Given the description of an element on the screen output the (x, y) to click on. 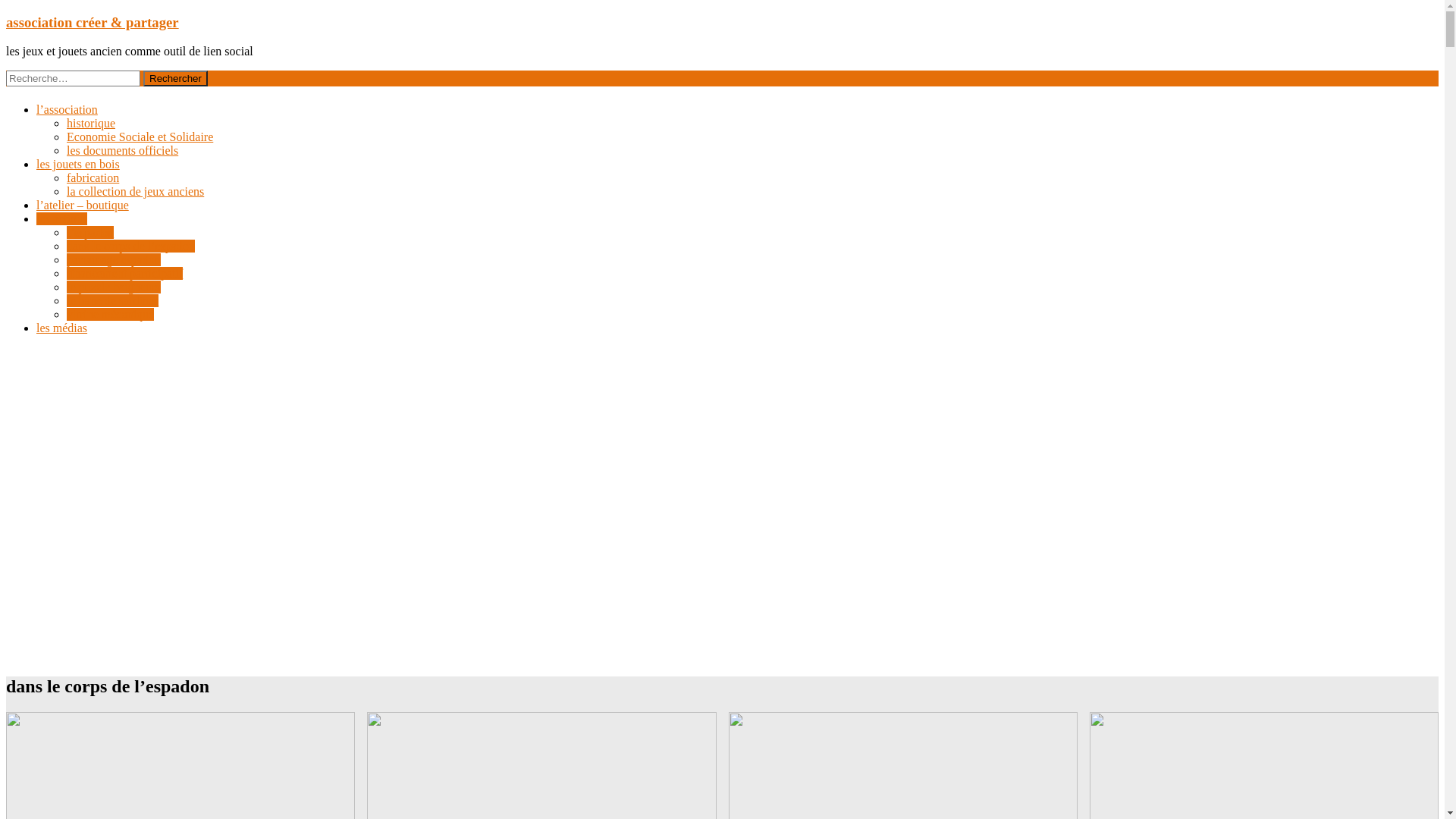
fabrication Element type: text (92, 177)
les jouets en bois Element type: text (77, 163)
Aller au contenu principal Element type: text (5, 13)
historique Element type: text (90, 122)
Rechercher Element type: text (175, 78)
le banc de sardines Element type: text (112, 300)
les actions Element type: text (61, 218)
parrainage espadon Element type: text (113, 259)
Economie Sociale et Solidaire Element type: text (139, 136)
le puzzle baigneurs Element type: text (113, 286)
la collection de jeux anciens Element type: text (134, 191)
les documents officiels Element type: text (122, 150)
financement participatif Element type: text (124, 272)
